Given the description of an element on the screen output the (x, y) to click on. 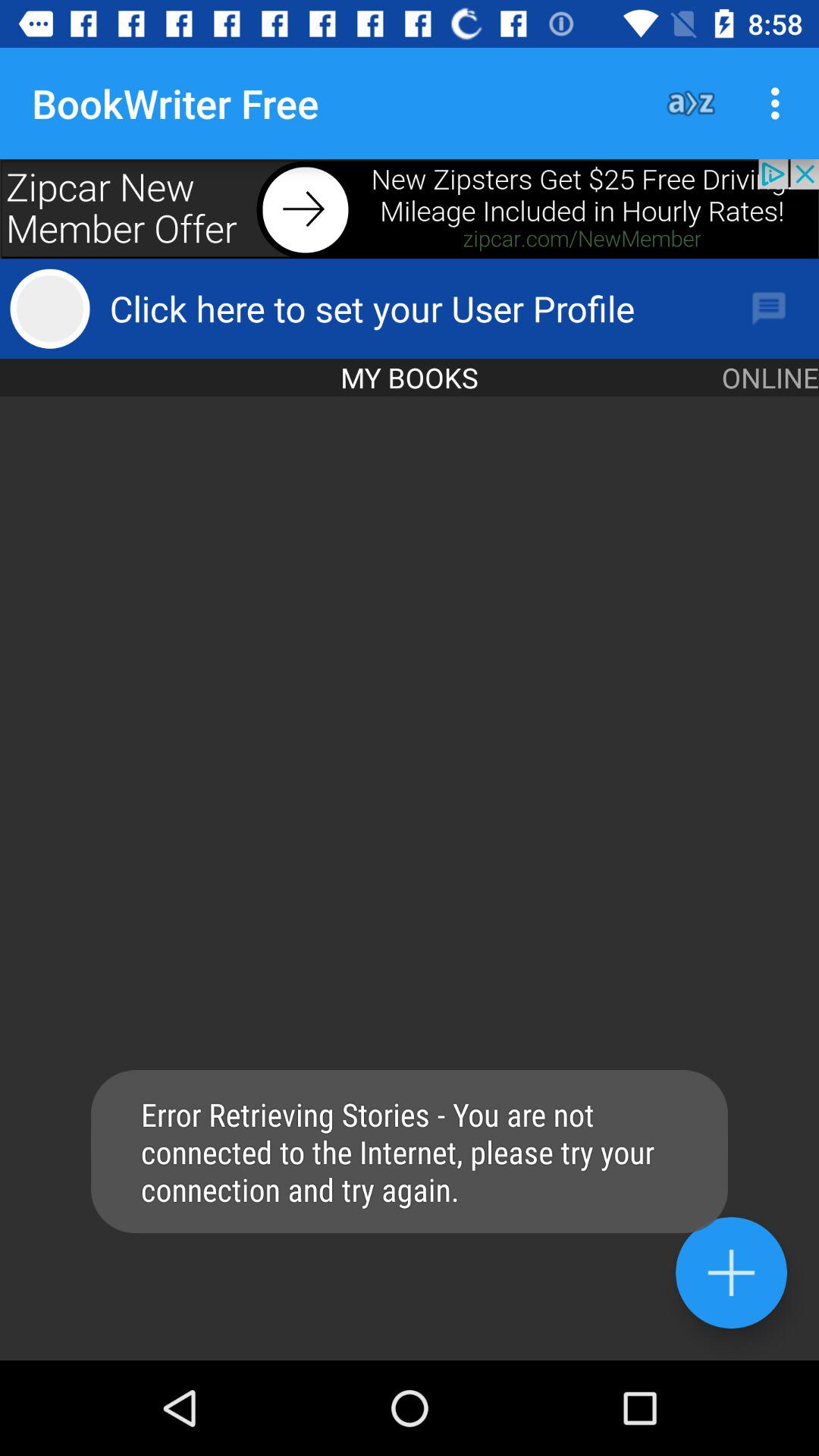
advertisement (409, 208)
